Given the description of an element on the screen output the (x, y) to click on. 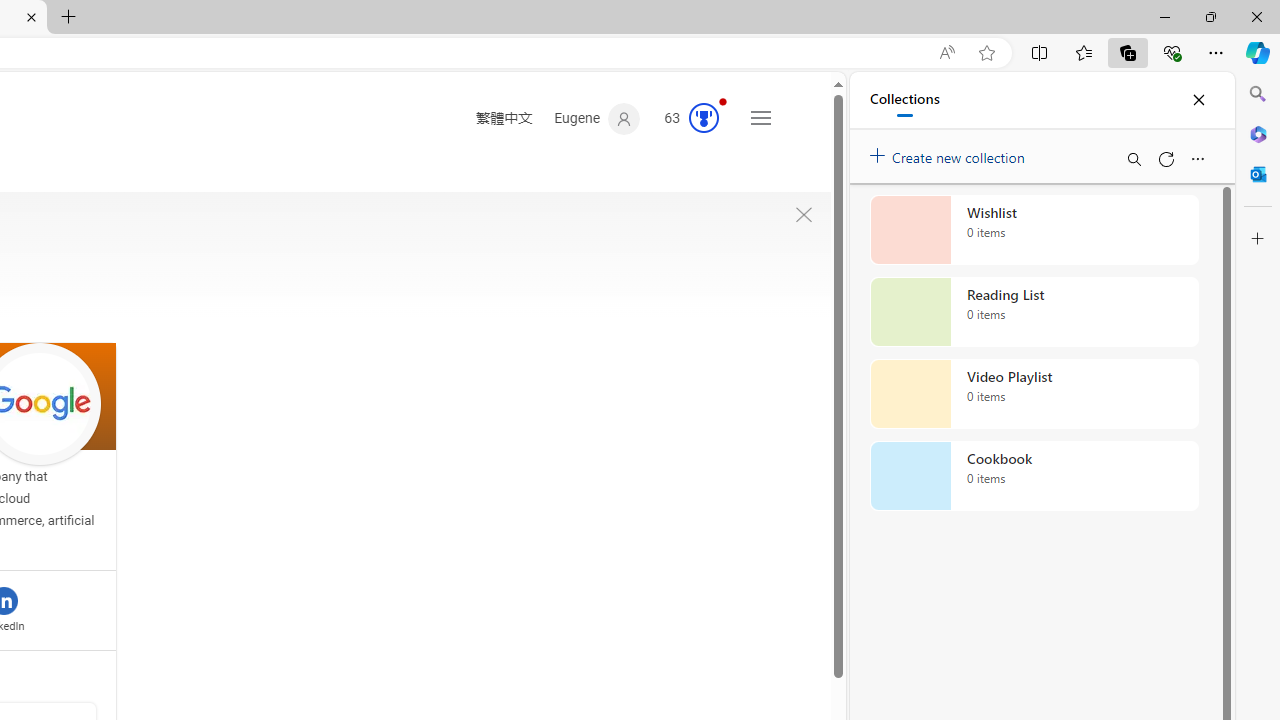
Reading List collection, 0 items (1034, 312)
Cookbook collection, 0 items (1034, 475)
